Given the description of an element on the screen output the (x, y) to click on. 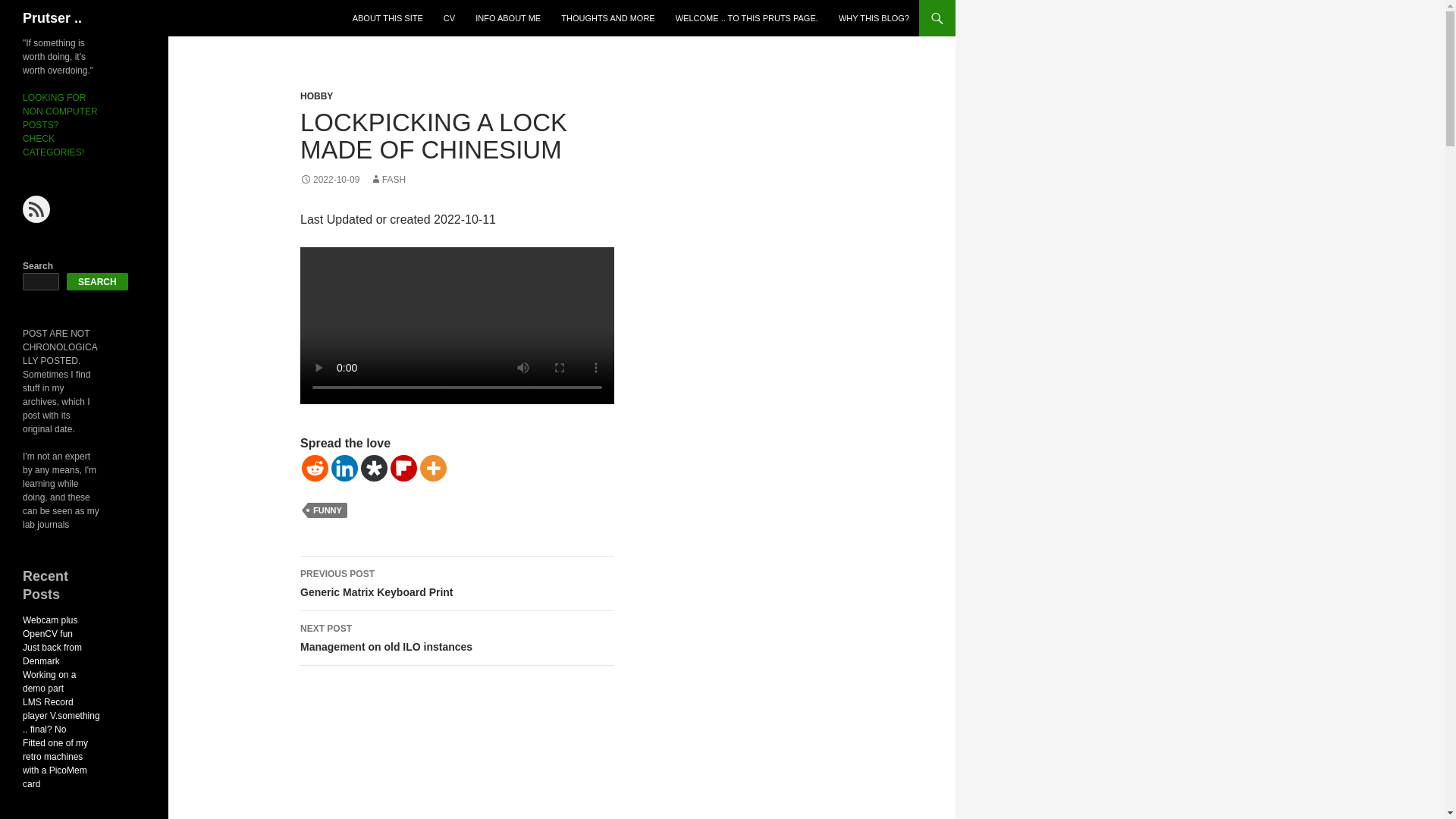
More (433, 468)
ABOUT THIS SITE (387, 18)
Flipboard (456, 583)
Diaspora (403, 468)
Working on a demo part (374, 468)
INFO ABOUT ME (456, 637)
Prutser .. (49, 681)
HOBBY (507, 18)
SEARCH (52, 18)
2022-10-09 (316, 95)
LMS Record player V.something .. final? No (97, 281)
WHY THIS BLOG? (329, 179)
WELCOME .. TO THIS PRUTS PAGE. (61, 715)
